Given the description of an element on the screen output the (x, y) to click on. 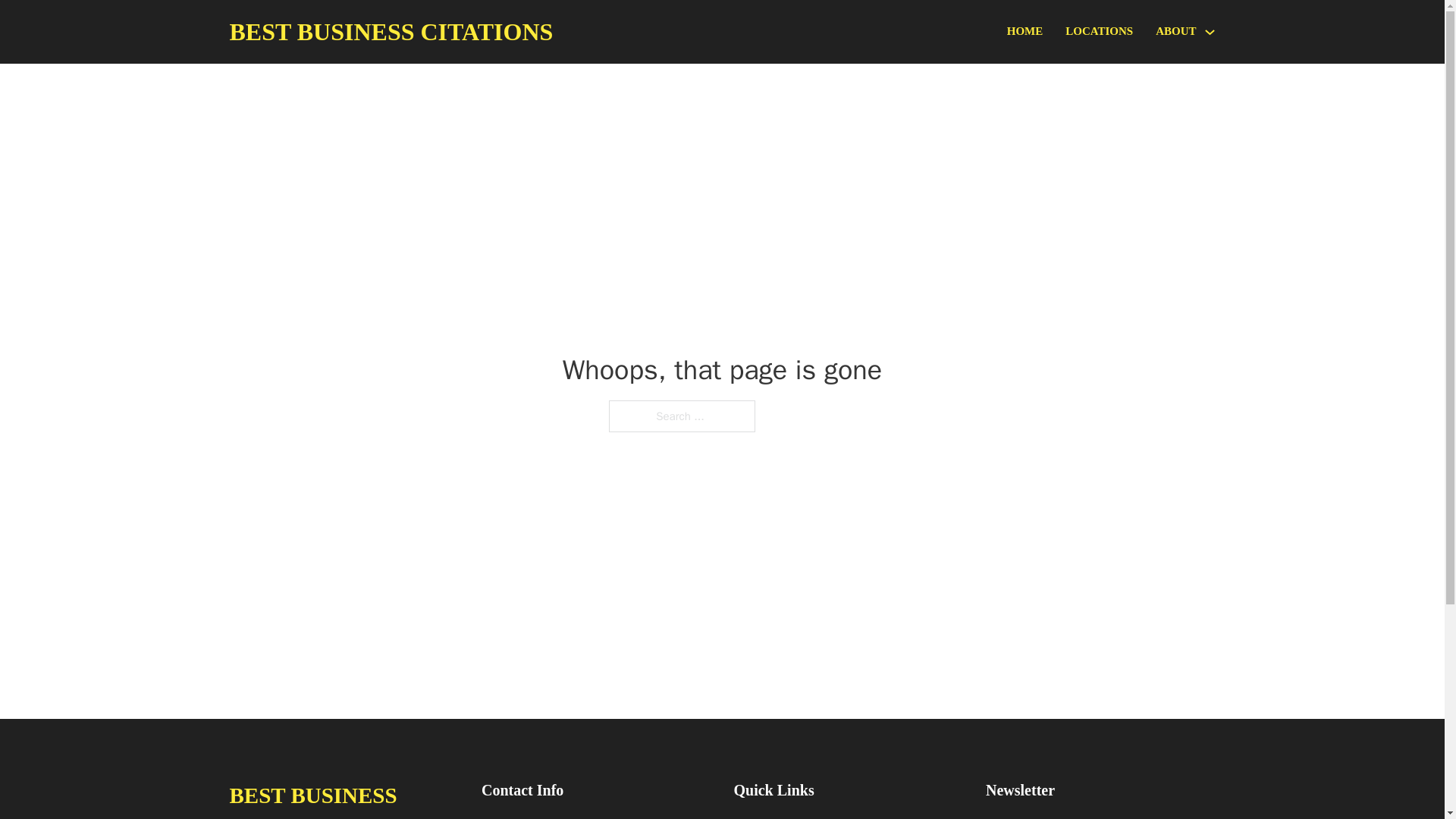
BEST BUSINESS CITATIONS (390, 31)
BEST BUSINESS CITATIONS (343, 798)
HOME (1025, 31)
LOCATIONS (1098, 31)
